Given the description of an element on the screen output the (x, y) to click on. 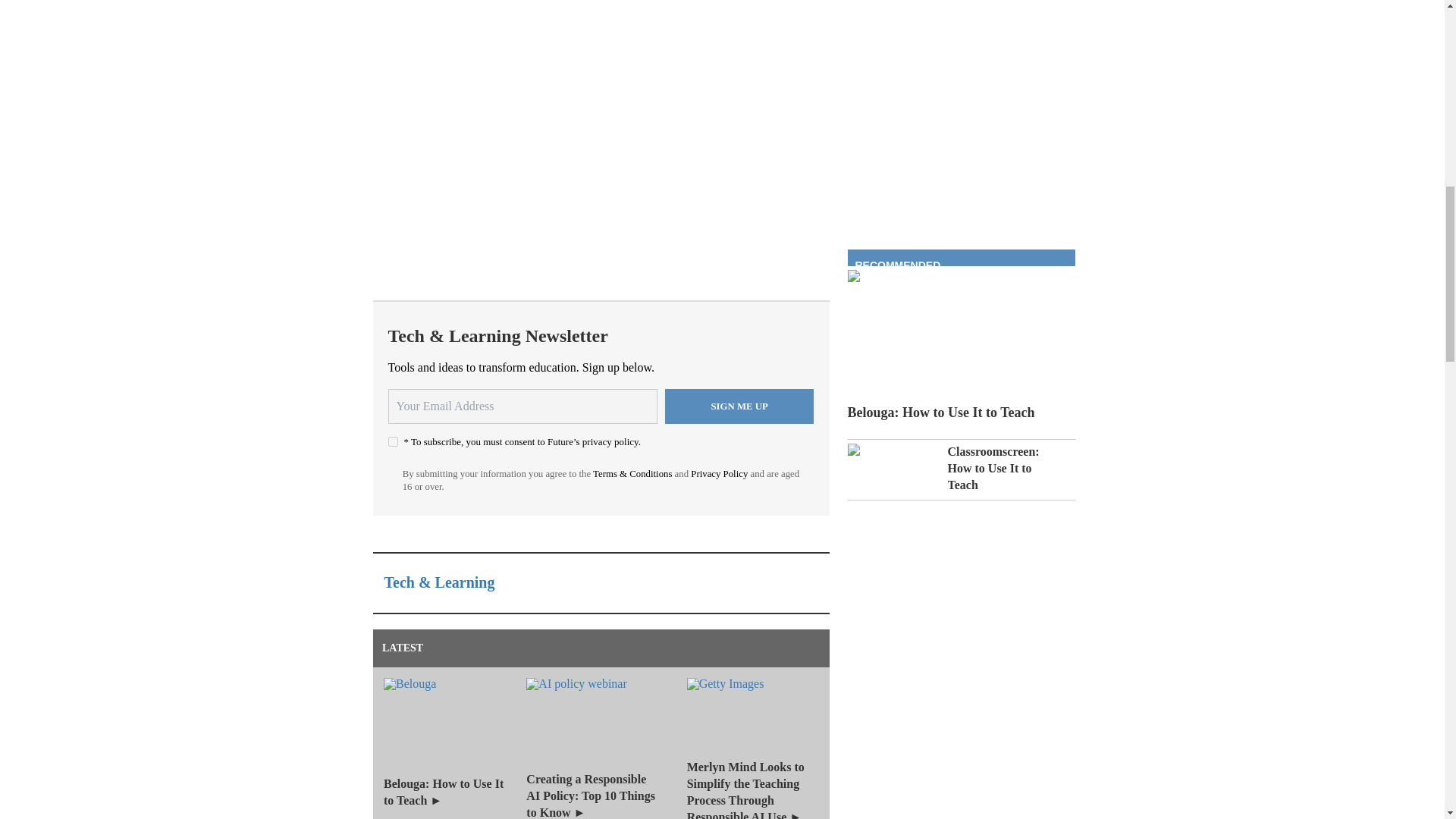
Sign me up (739, 406)
on (392, 441)
Privacy Policy (719, 473)
Sign me up (739, 406)
